Given the description of an element on the screen output the (x, y) to click on. 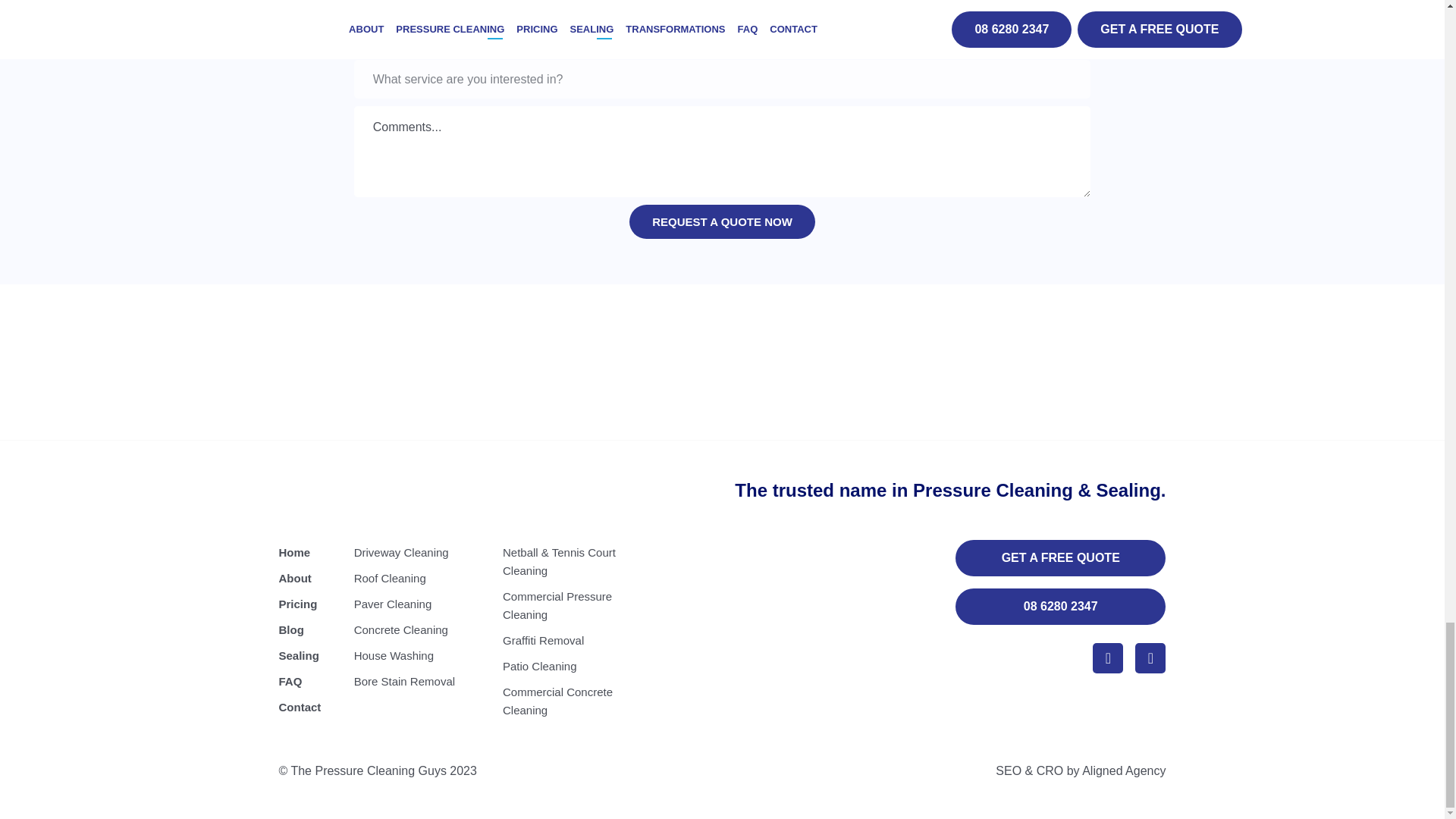
Pricing (309, 604)
About (309, 578)
Home (309, 552)
REQUEST A QUOTE NOW (721, 221)
REQUEST A QUOTE NOW (721, 221)
